Given the description of an element on the screen output the (x, y) to click on. 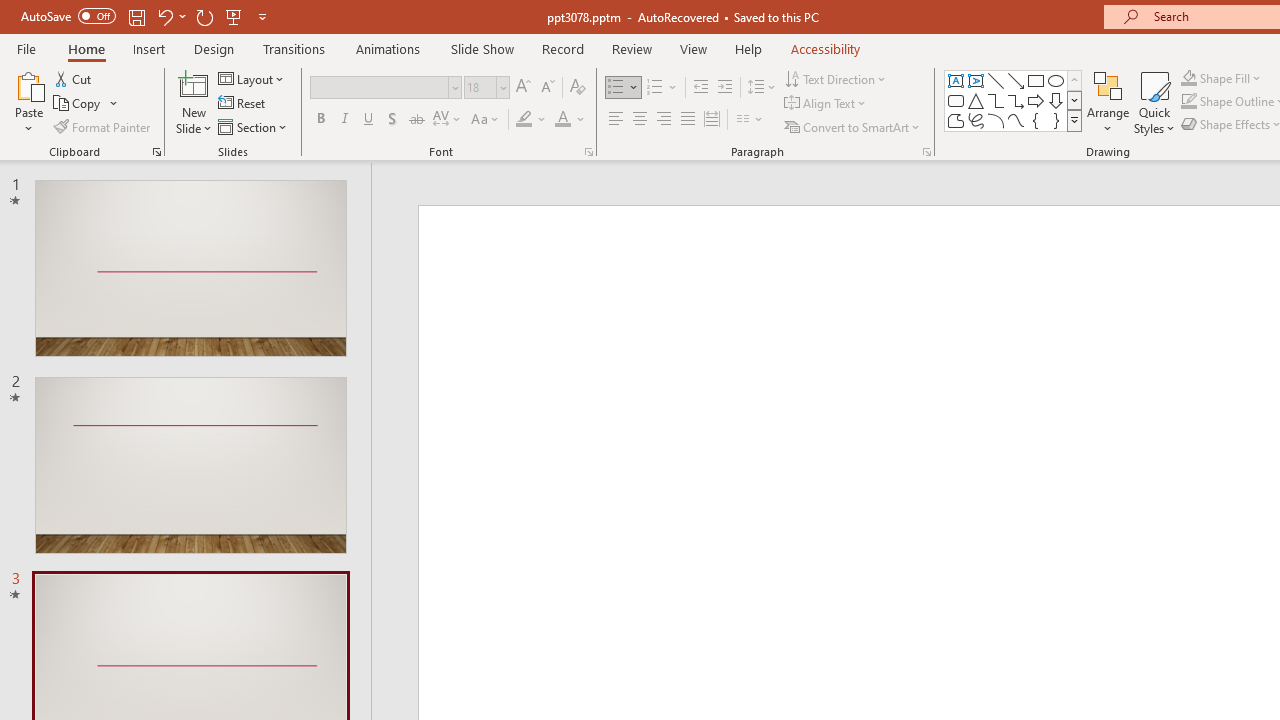
Shape Fill Dark Green, Accent 2 (1188, 78)
